Given the description of an element on the screen output the (x, y) to click on. 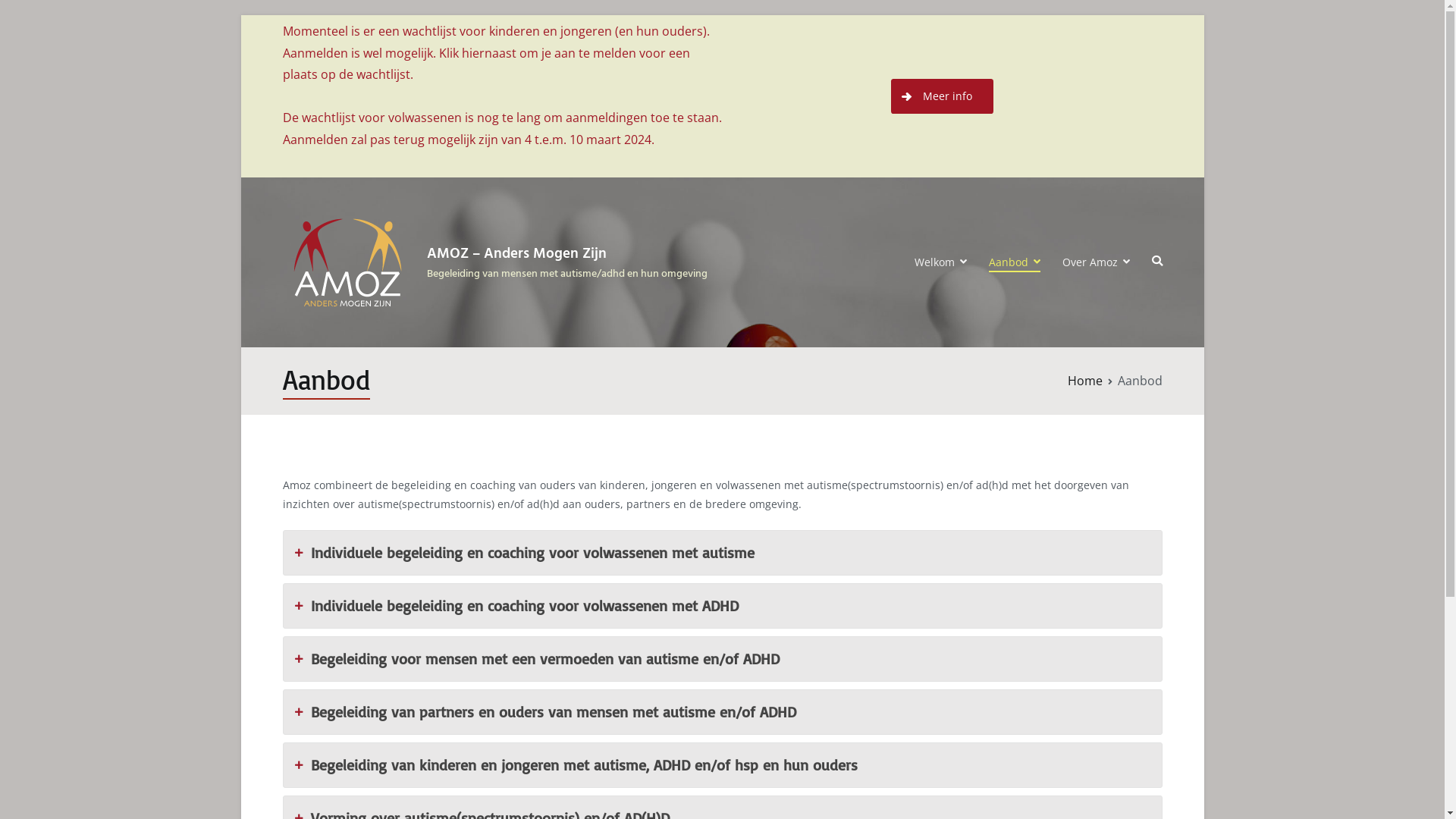
Welkom Element type: text (940, 262)
Aanbod Element type: text (1014, 262)
Over Amoz Element type: text (1095, 262)
Home Element type: text (1084, 380)
Zoeken Element type: text (29, 14)
Meer info Element type: text (942, 95)
Spring naar de inhoud Element type: text (239, 14)
